Given the description of an element on the screen output the (x, y) to click on. 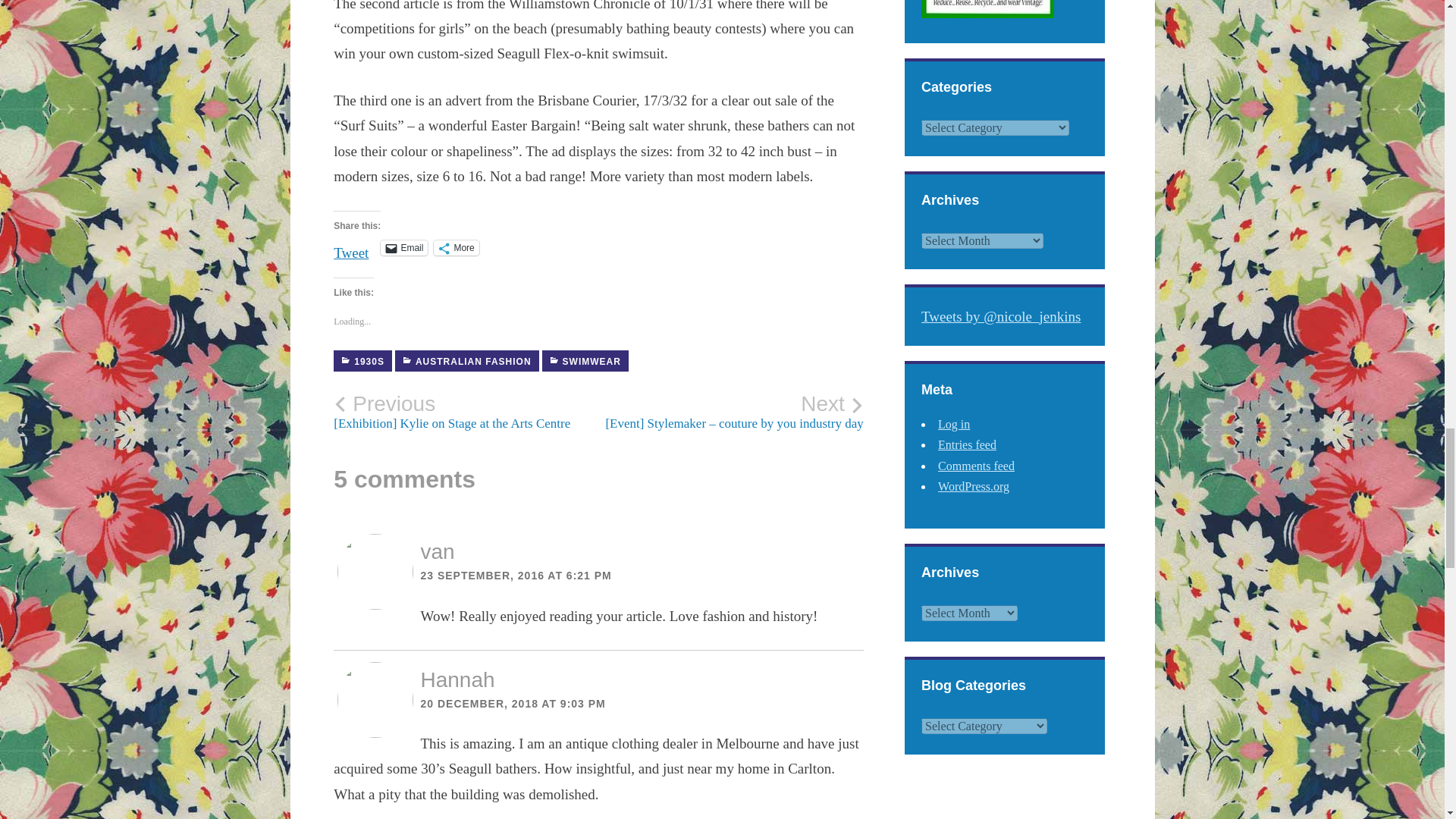
AUSTRALIAN FASHION (466, 360)
More (456, 247)
Tweet (350, 246)
Email (404, 247)
1930S (362, 360)
Click to email a link to a friend (404, 247)
SWIMWEAR (584, 360)
